Given the description of an element on the screen output the (x, y) to click on. 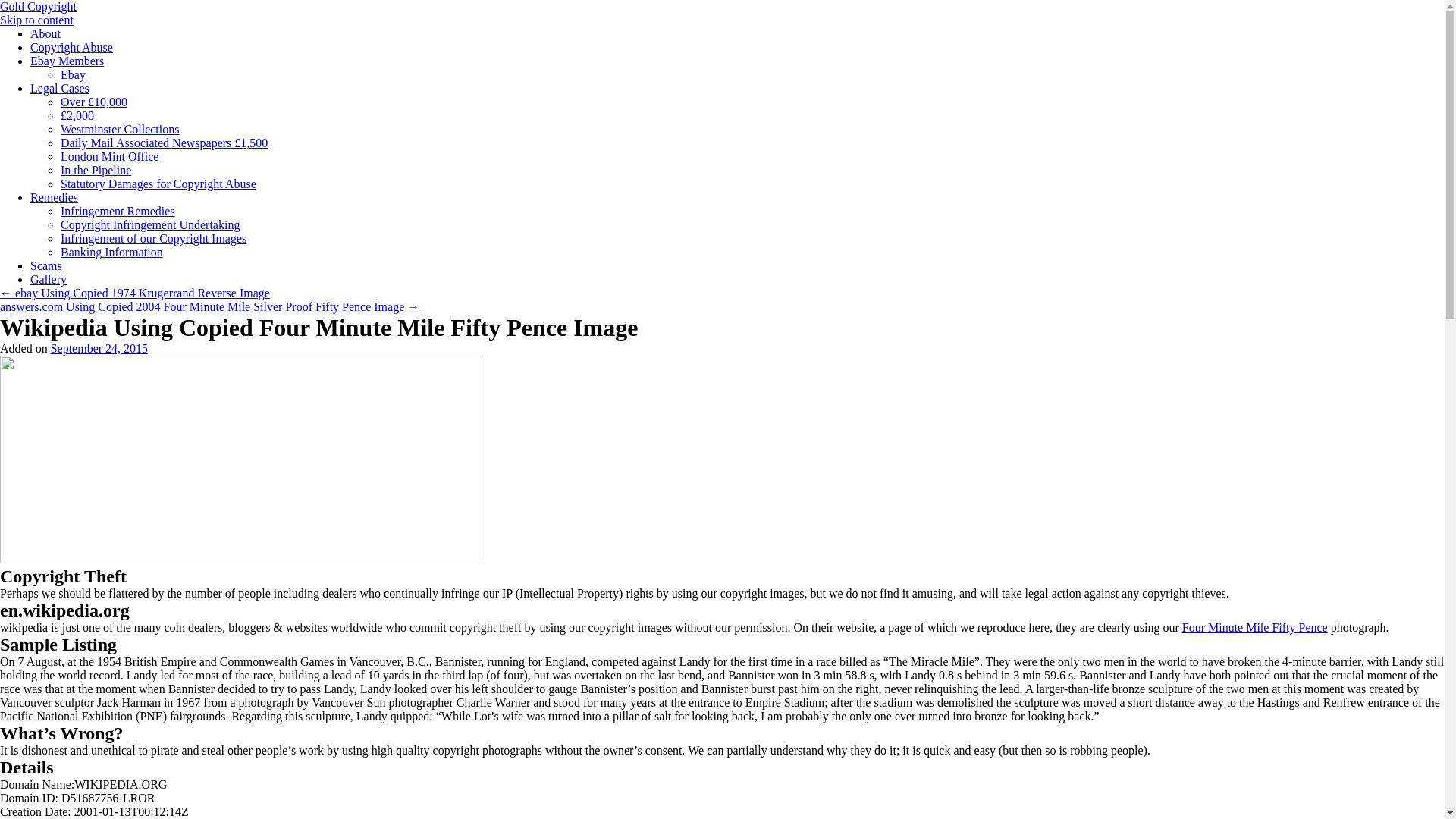
In the Pipeline (96, 169)
Remedies (54, 196)
Copyright Infringement Undertaking (150, 224)
Statutory Damages for Copyright Abuse (158, 183)
Infringement of our Copyright Images (153, 237)
Gold Copyright (38, 6)
Infringement Remedies (117, 210)
September 24, 2015 (99, 348)
Banking Information (112, 251)
Copyright Abuse (71, 47)
Skip to content (37, 19)
Scams (46, 265)
Gallery (48, 278)
Westminster Collections (120, 128)
London Mint Office (109, 155)
